Given the description of an element on the screen output the (x, y) to click on. 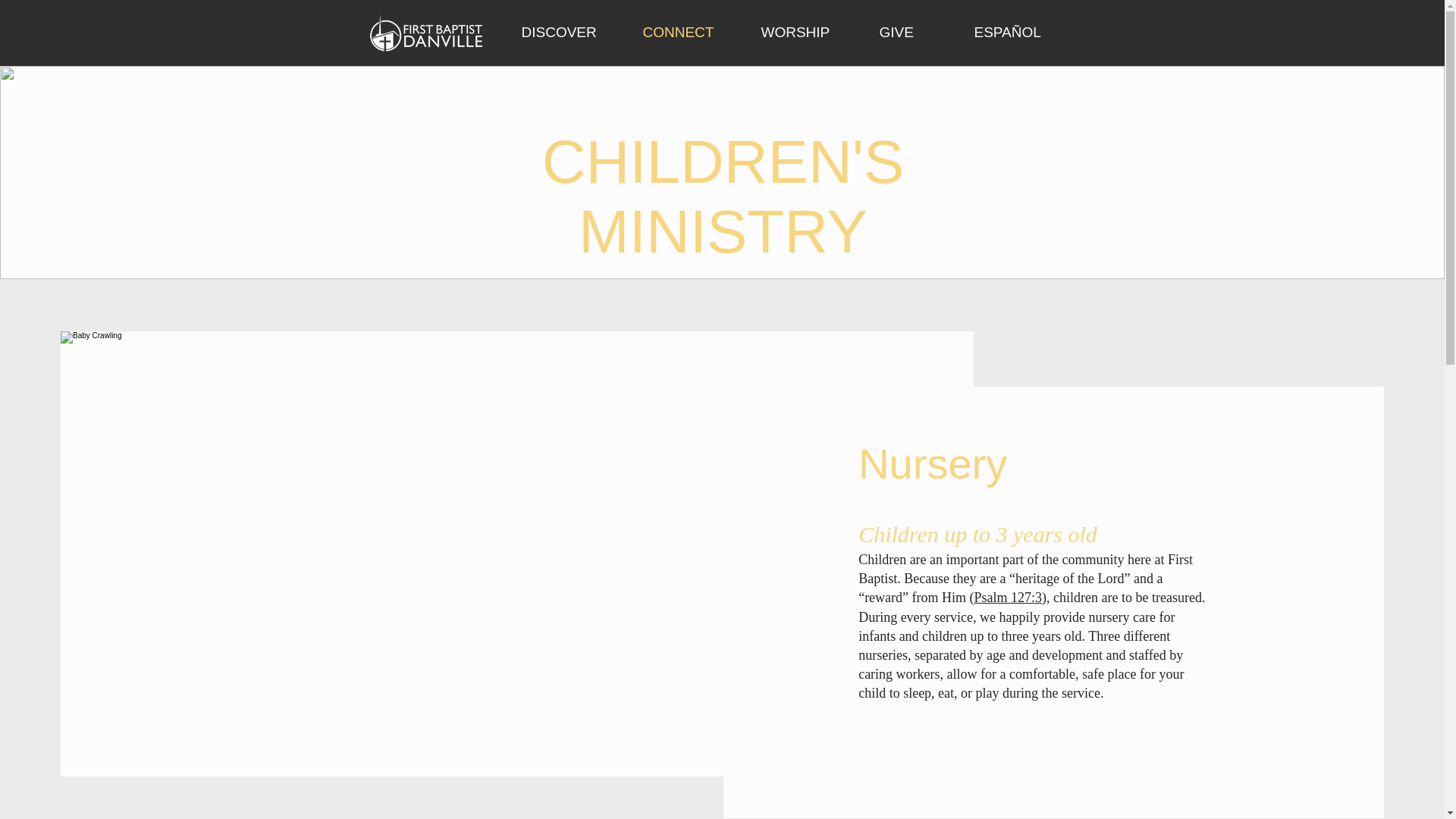
DISCOVER (569, 32)
WORSHIP (808, 32)
Psalm 127:3 (1008, 597)
Full Logo.png (425, 32)
GIVE (914, 32)
CONNECT (689, 32)
